Given the description of an element on the screen output the (x, y) to click on. 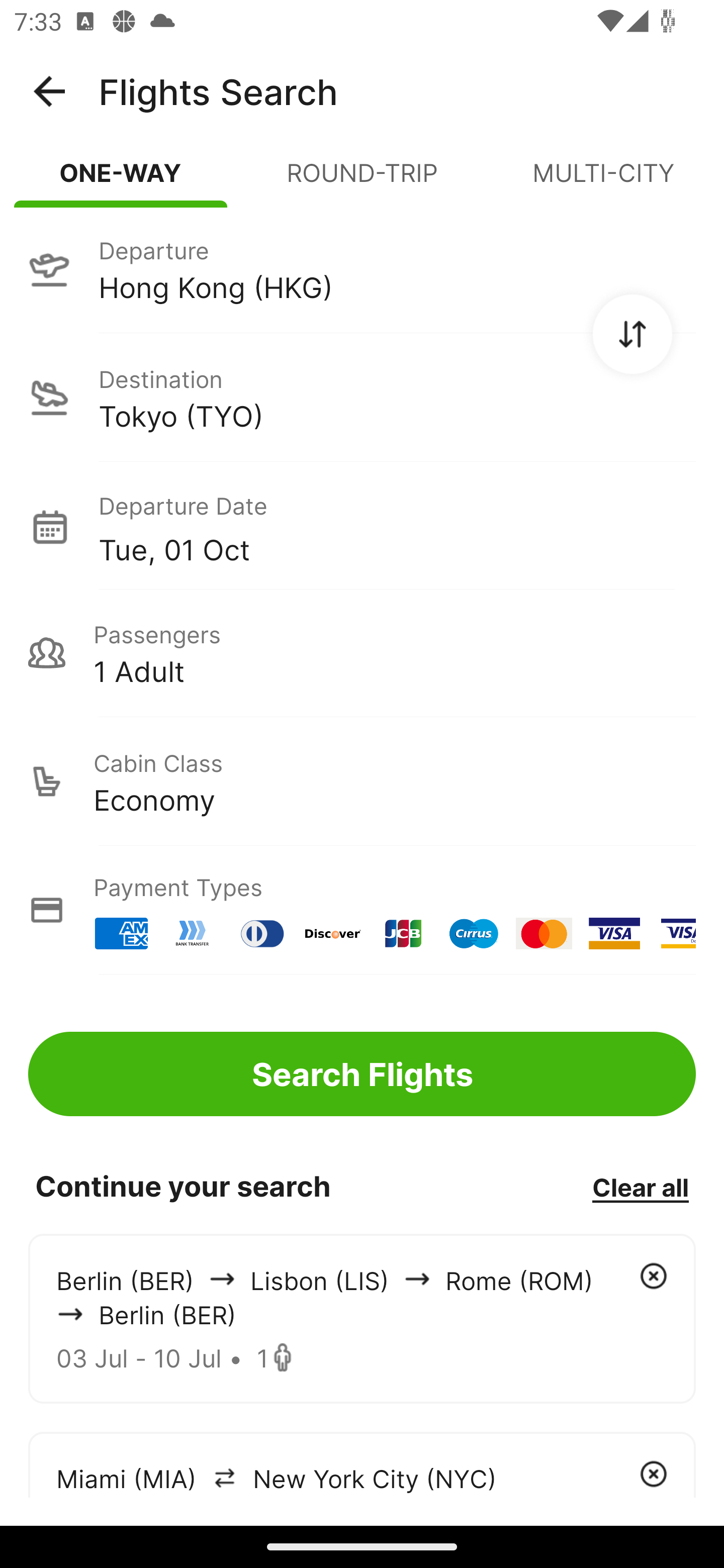
ONE-WAY (120, 180)
ROUND-TRIP (361, 180)
MULTI-CITY (603, 180)
Departure Hong Kong (HKG) (362, 269)
Destination Tokyo (TYO) (362, 396)
Departure Date Tue, 01 Oct (396, 525)
Passengers 1 Adult (362, 652)
Cabin Class Economy (362, 781)
Payment Types (362, 909)
Search Flights (361, 1073)
Clear all (640, 1186)
Miami (MIA)  arrowIcon  New York City (NYC) (361, 1464)
